Given the description of an element on the screen output the (x, y) to click on. 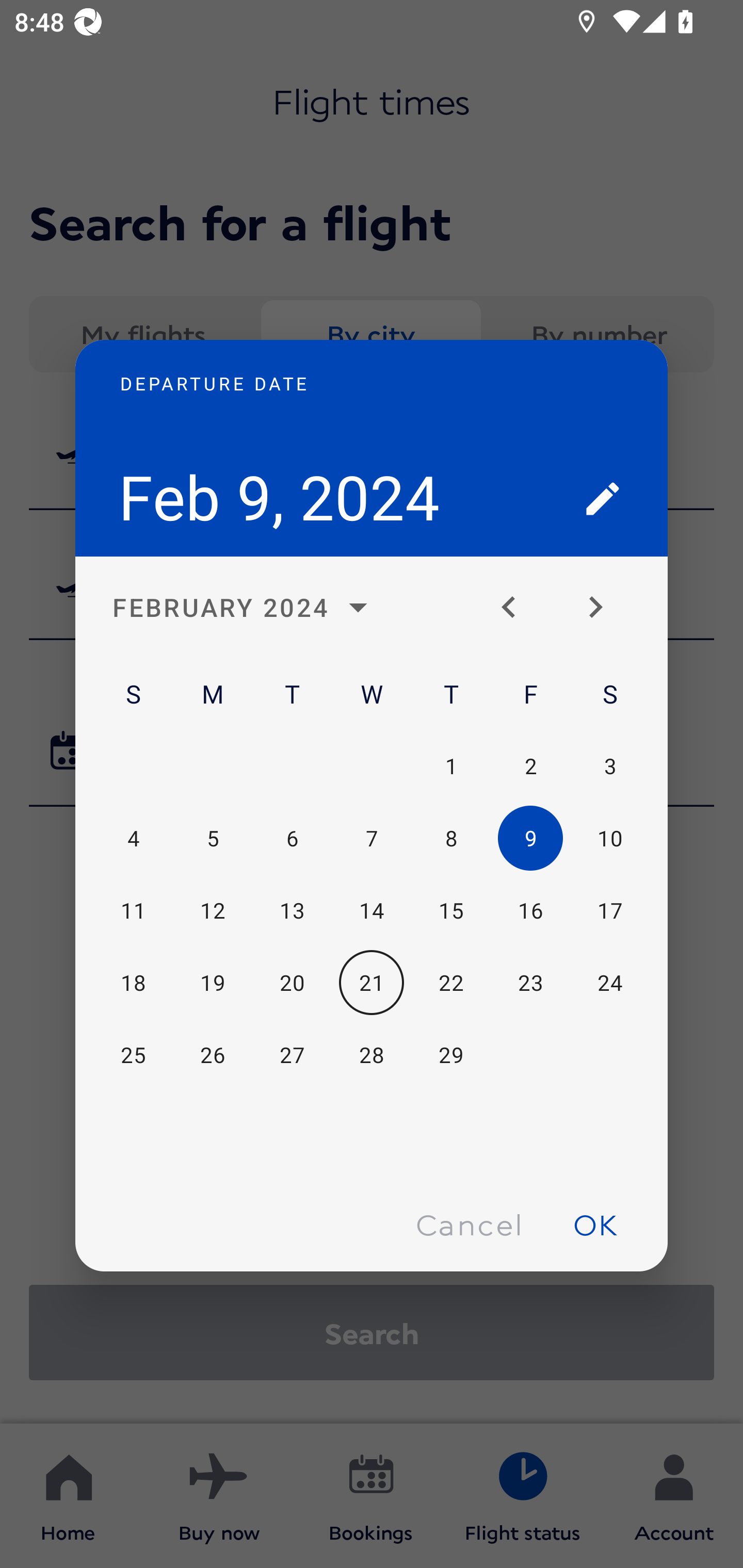
Switch to text input mode (602, 498)
FEBRUARY 2024 (245, 607)
Change to previous month (515, 607)
Change to next month (602, 607)
1 Thu, Feb 1 (450, 765)
2 Fri, Feb 2 (530, 765)
3 Sat, Feb 3 (609, 765)
4 Sun, Feb 4 (133, 838)
5 Mon, Feb 5 (212, 838)
6 Tue, Feb 6 (291, 838)
7 Wed, Feb 7 (371, 838)
8 Thu, Feb 8 (450, 838)
9 Fri, Feb 9 (530, 838)
10 Sat, Feb 10 (609, 838)
11 Sun, Feb 11 (133, 910)
12 Mon, Feb 12 (212, 910)
13 Tue, Feb 13 (291, 910)
14 Wed, Feb 14 (371, 910)
15 Thu, Feb 15 (450, 910)
16 Fri, Feb 16 (530, 910)
17 Sat, Feb 17 (609, 910)
18 Sun, Feb 18 (133, 983)
19 Mon, Feb 19 (212, 983)
20 Tue, Feb 20 (291, 983)
21 Today Wed, Feb 21 (371, 983)
22 Thu, Feb 22 (450, 983)
23 Fri, Feb 23 (530, 983)
24 Sat, Feb 24 (609, 983)
25 Sun, Feb 25 (133, 1055)
26 Mon, Feb 26 (212, 1055)
27 Tue, Feb 27 (291, 1055)
28 Wed, Feb 28 (371, 1055)
29 Thu, Feb 29 (450, 1055)
Cancel (468, 1224)
OK null, OK (595, 1224)
